Given the description of an element on the screen output the (x, y) to click on. 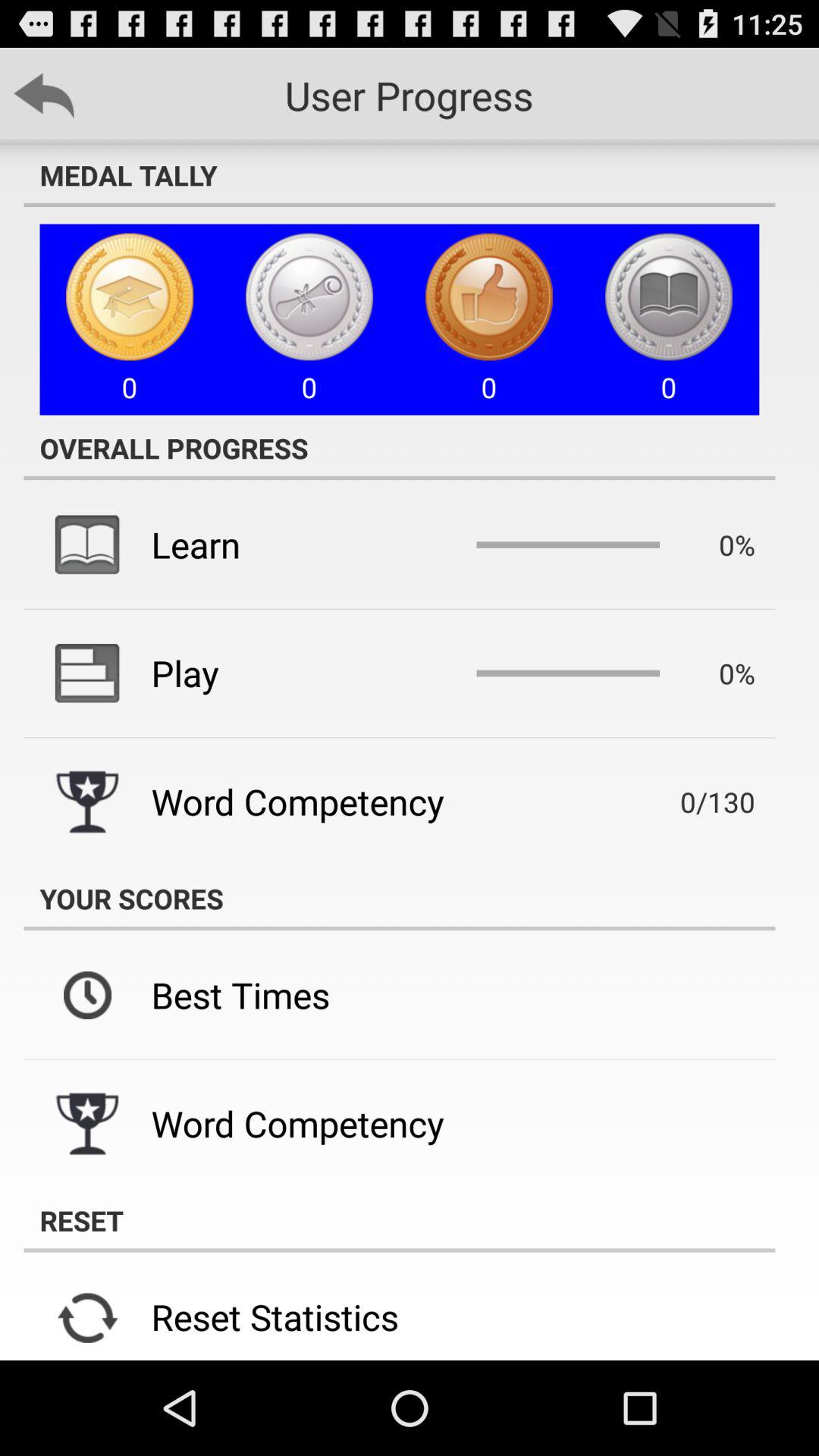
press your scores item (399, 898)
